Given the description of an element on the screen output the (x, y) to click on. 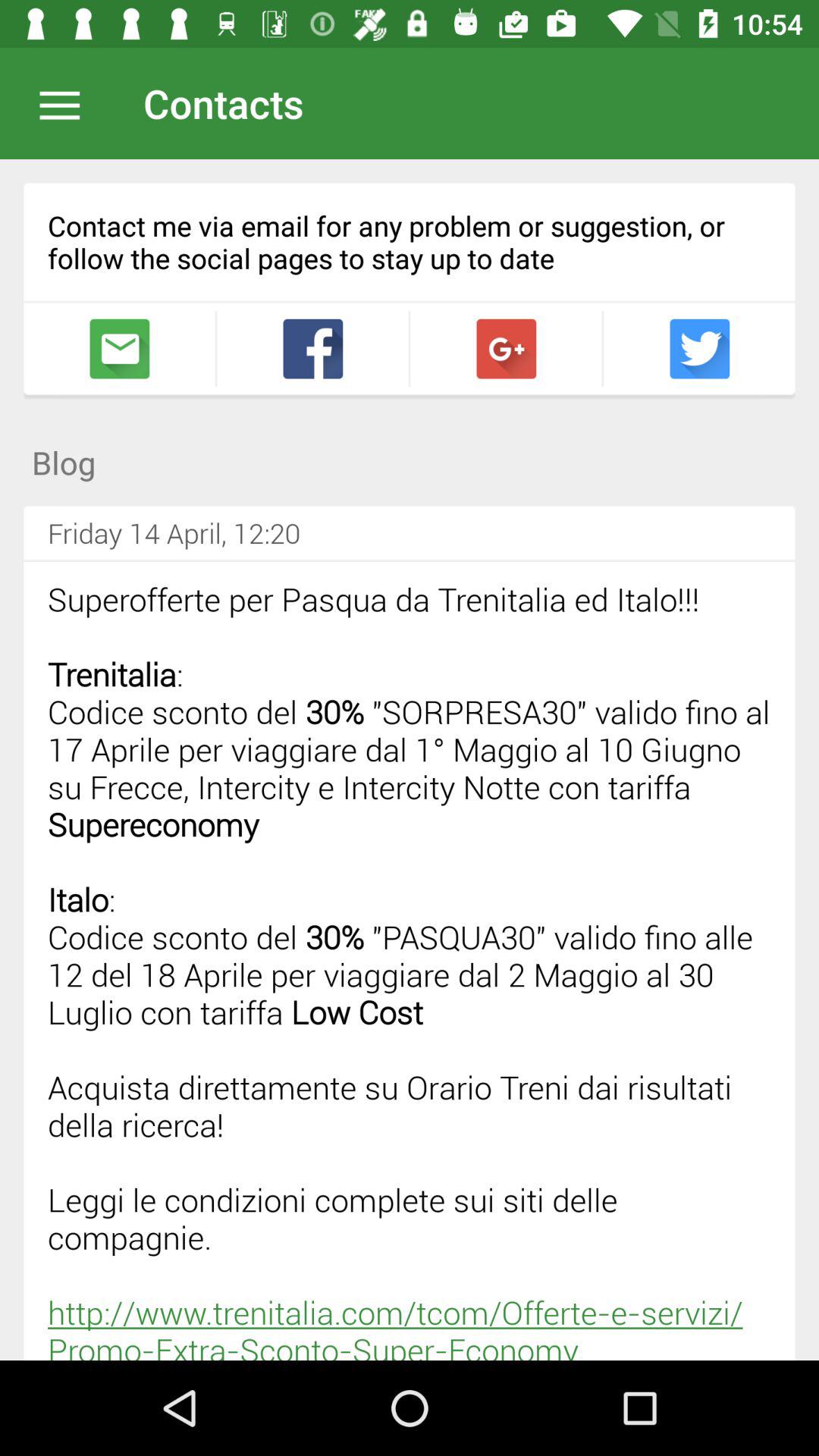
open menu (67, 103)
